Given the description of an element on the screen output the (x, y) to click on. 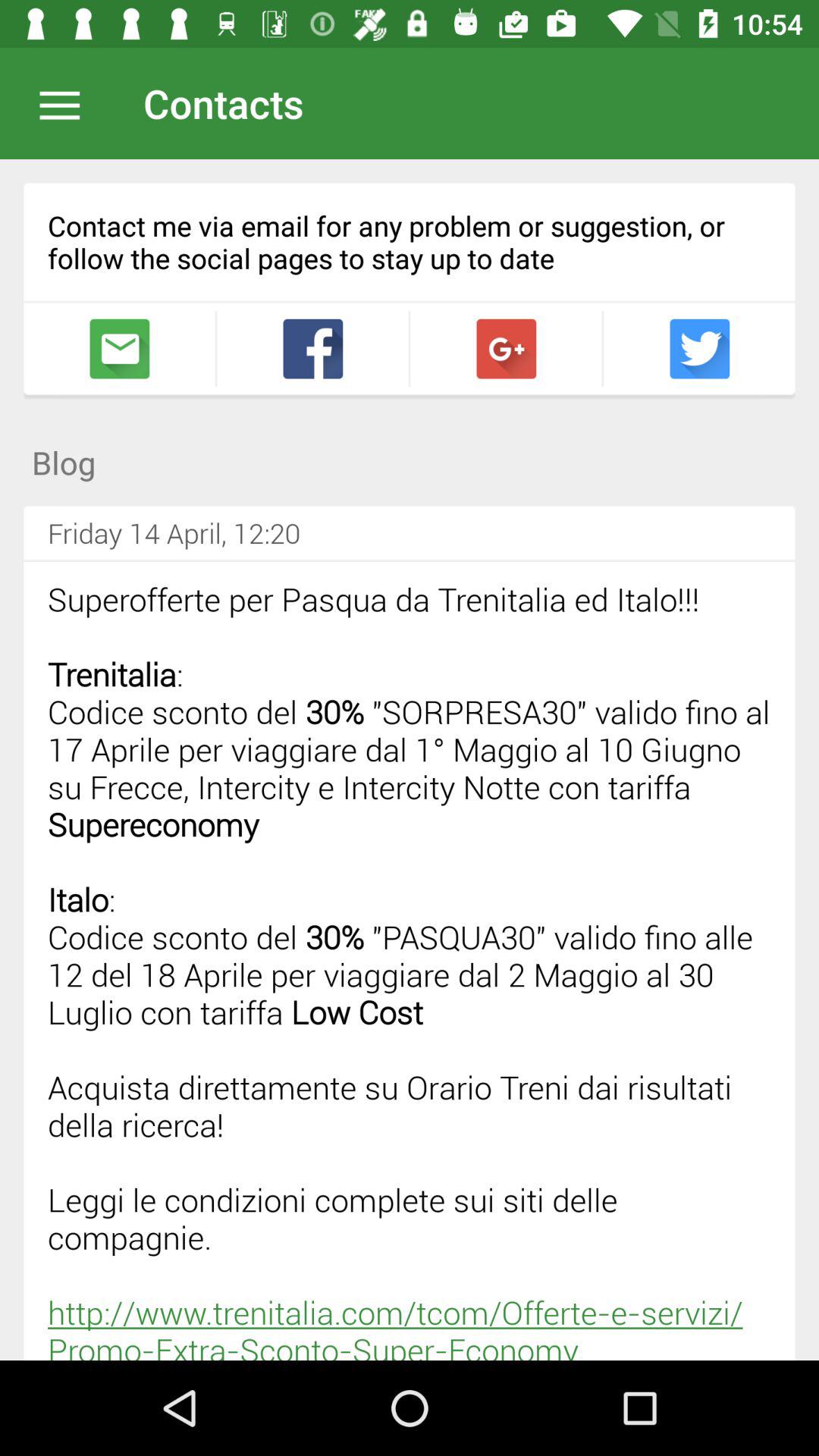
open menu (67, 103)
